Given the description of an element on the screen output the (x, y) to click on. 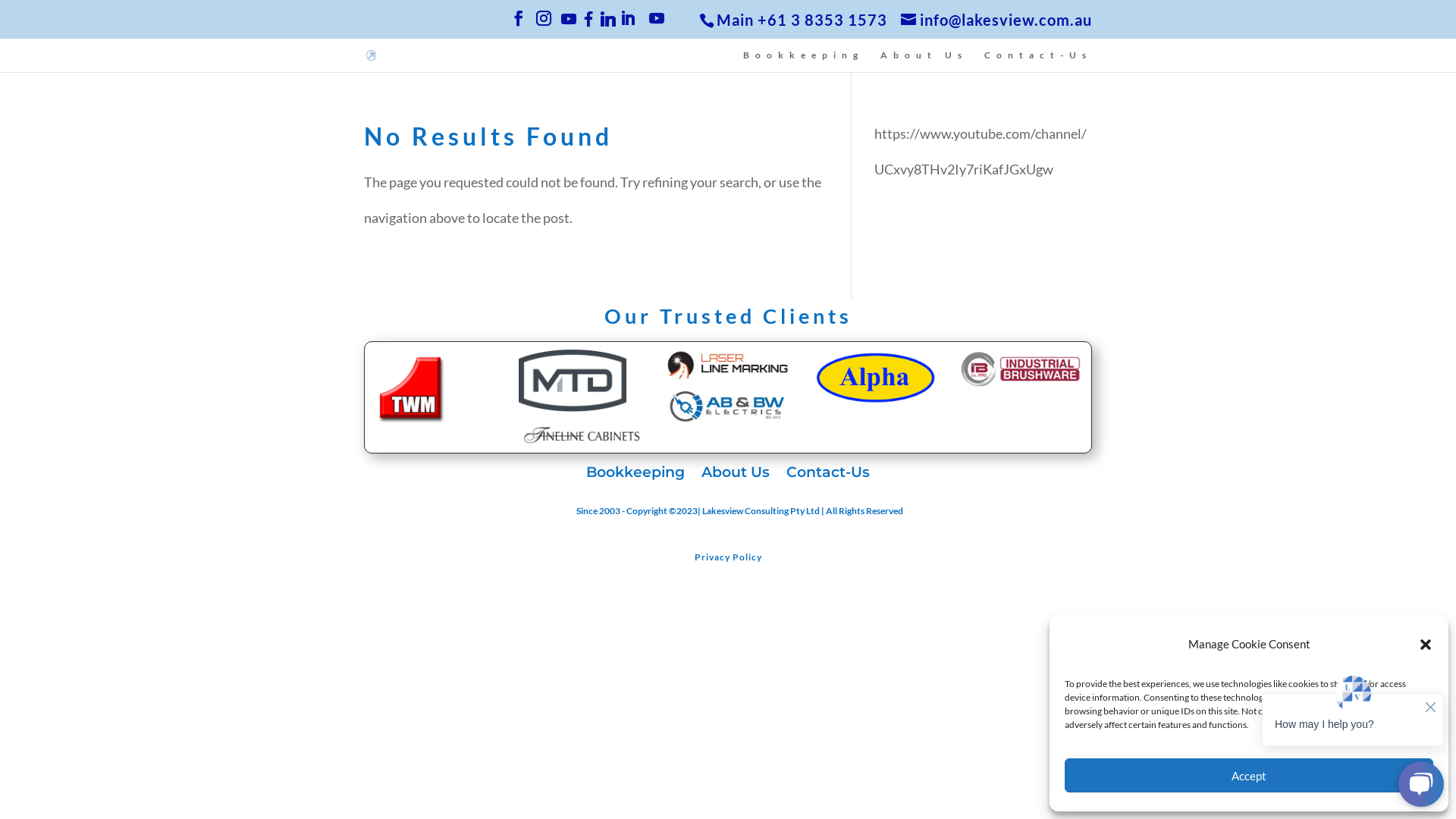
Alpha Logo Element type: hover (874, 377)
Bookkeeping Element type: text (803, 61)
Contact-Us Element type: text (1038, 61)
info@lakesview.com.au Element type: text (996, 19)
TWM Imports Element type: hover (410, 387)
Accept Element type: text (1248, 775)
About Us Element type: text (923, 61)
Bookkeeping Element type: text (635, 475)
Minton Treharne & Davies Element type: hover (572, 380)
Contact-Us Element type: text (827, 475)
Laser line Marking  Element type: hover (727, 364)
Industrial Brushware Element type: hover (1020, 369)
AB Logo 4 Element type: hover (727, 406)
About Us Element type: text (735, 475)
Fineline Cabinets Element type: hover (580, 433)
